Given the description of an element on the screen output the (x, y) to click on. 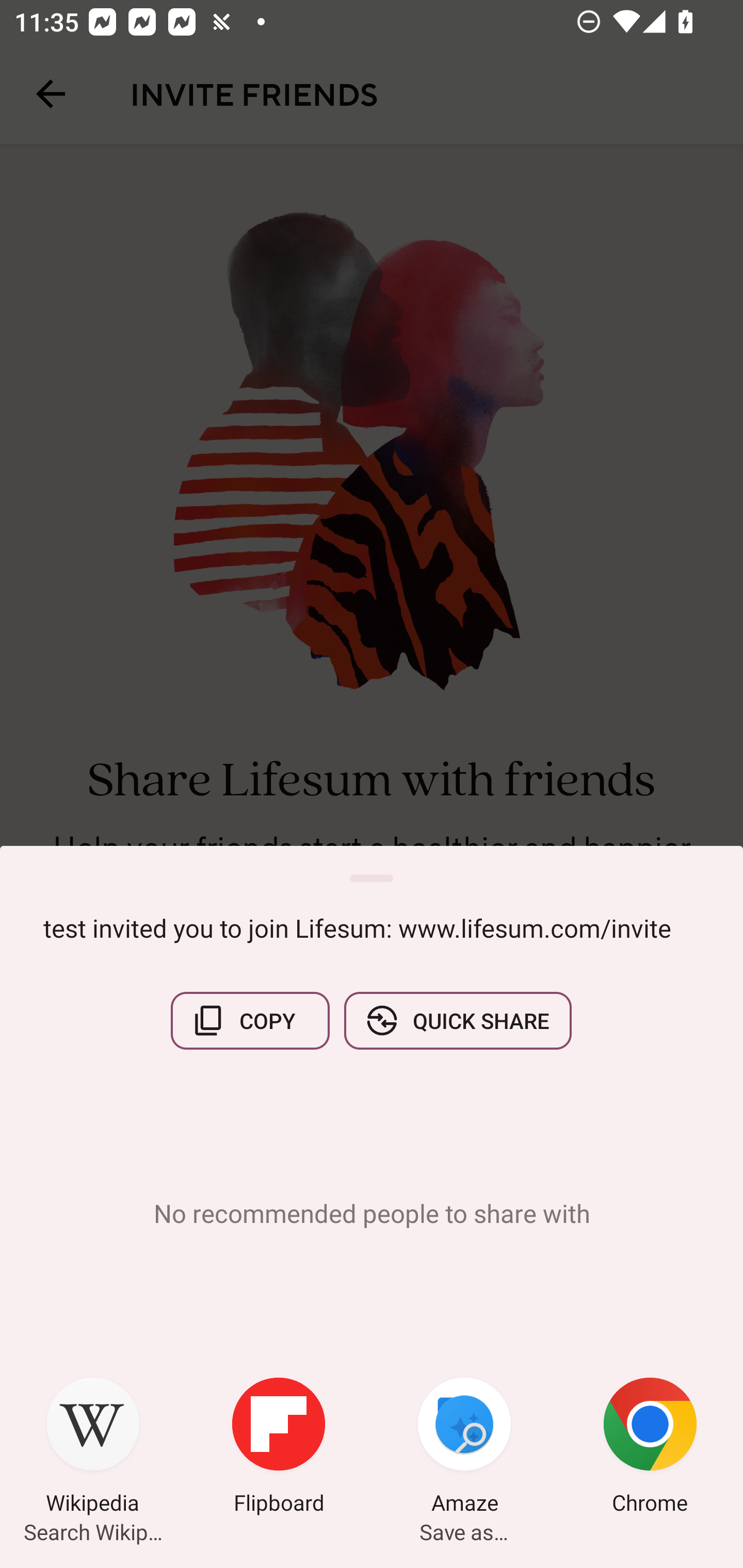
COPY (249, 1020)
QUICK SHARE (457, 1020)
Wikipedia Search Wikipedia (92, 1448)
Flipboard (278, 1448)
Amaze Save as… (464, 1448)
Chrome (650, 1448)
